Given the description of an element on the screen output the (x, y) to click on. 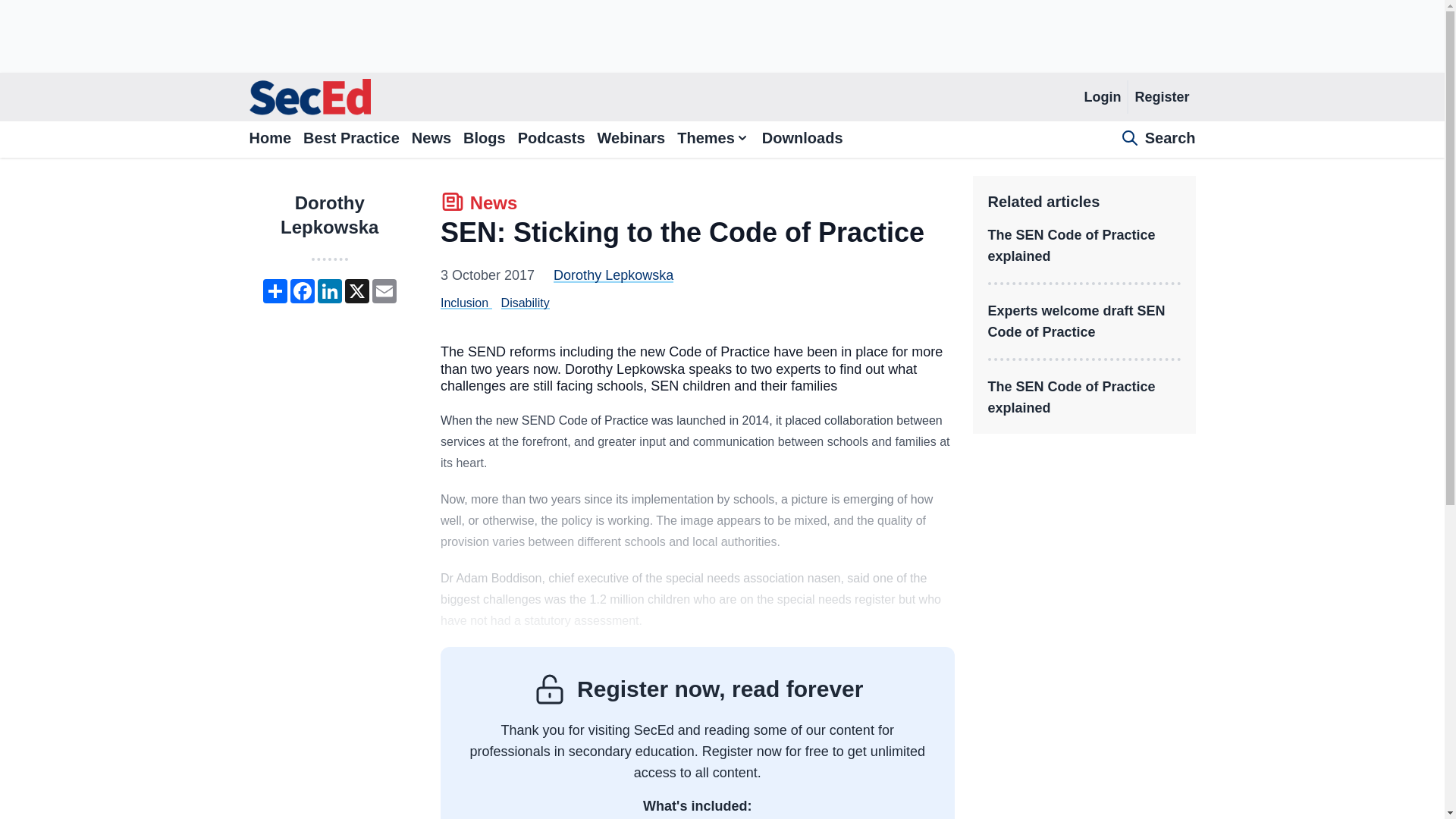
News (478, 205)
Themes (713, 139)
News (431, 139)
Podcasts (551, 139)
Home (269, 139)
Best Practice (329, 214)
Inclusion (350, 139)
Dorothy Lepkowska (464, 302)
Disability (612, 274)
